Given the description of an element on the screen output the (x, y) to click on. 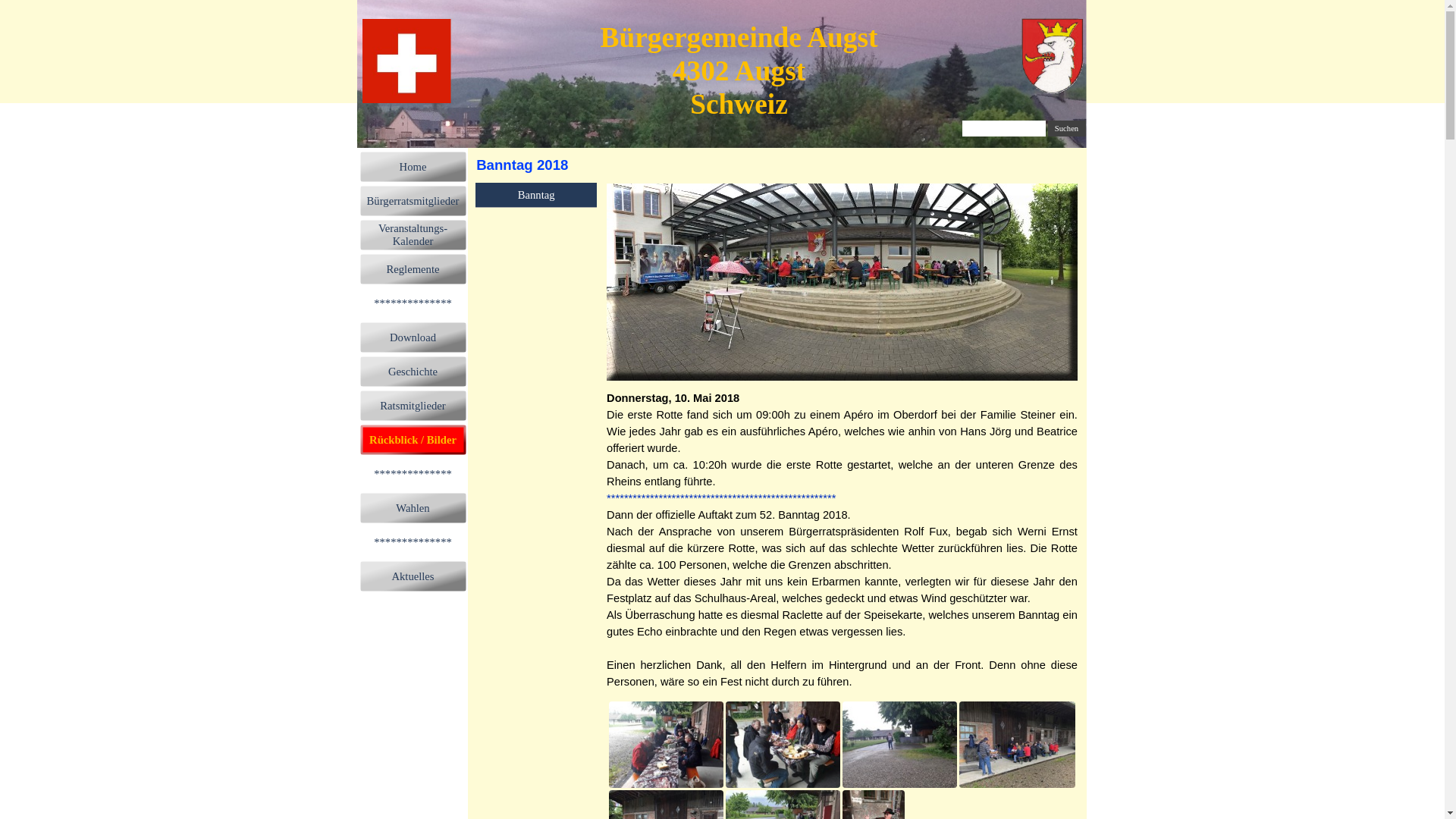
Download Element type: text (412, 337)
Home Element type: text (412, 166)
Veranstaltungs-Kalender Element type: text (412, 234)
Banntag Element type: text (535, 194)
Suchen Element type: text (1066, 128)
